Given the description of an element on the screen output the (x, y) to click on. 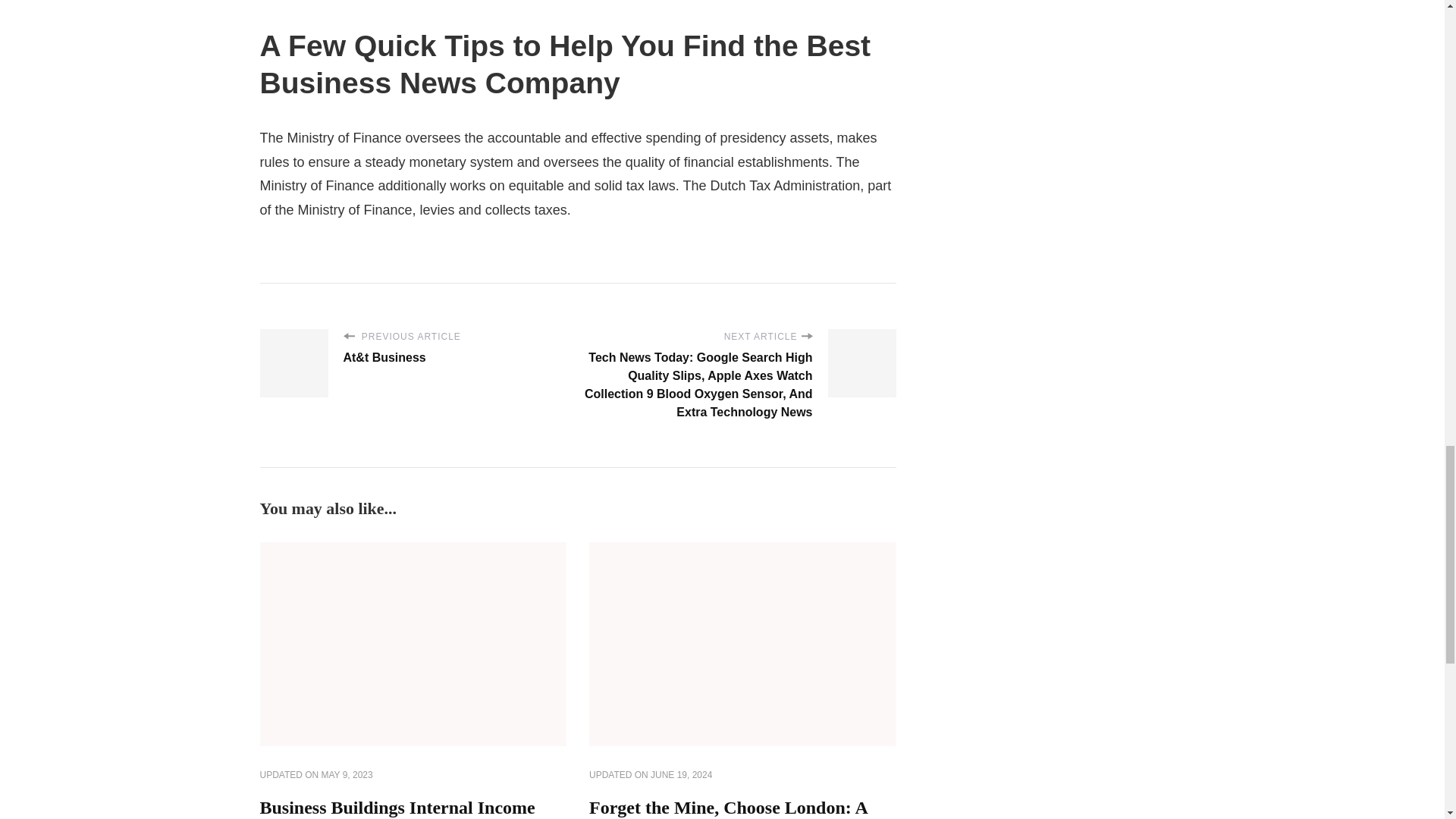
Business Buildings Internal Income Service (396, 808)
MAY 9, 2023 (346, 775)
JUNE 19, 2024 (680, 775)
